Given the description of an element on the screen output the (x, y) to click on. 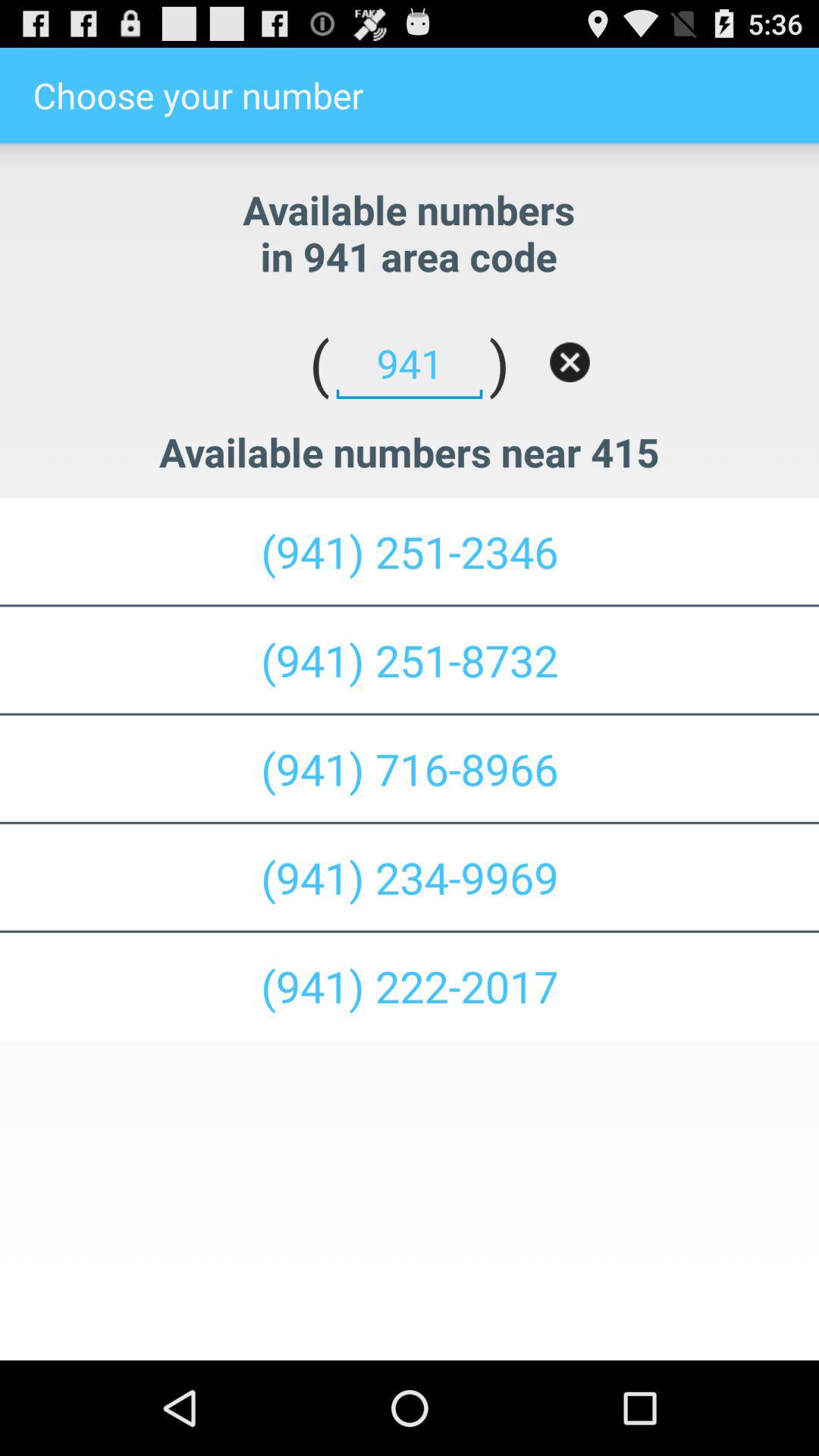
clear area code (569, 362)
